Given the description of an element on the screen output the (x, y) to click on. 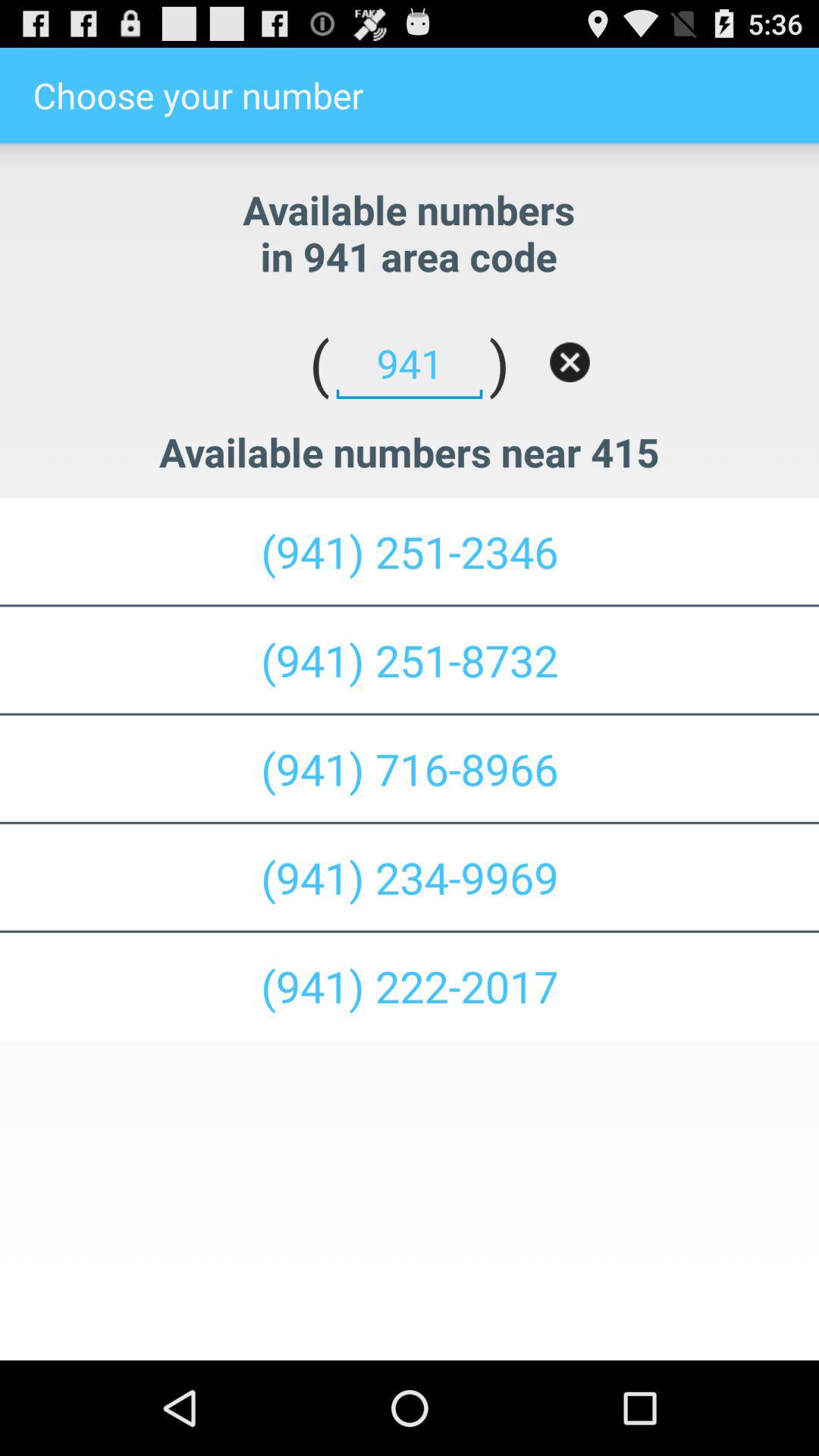
clear area code (569, 362)
